Given the description of an element on the screen output the (x, y) to click on. 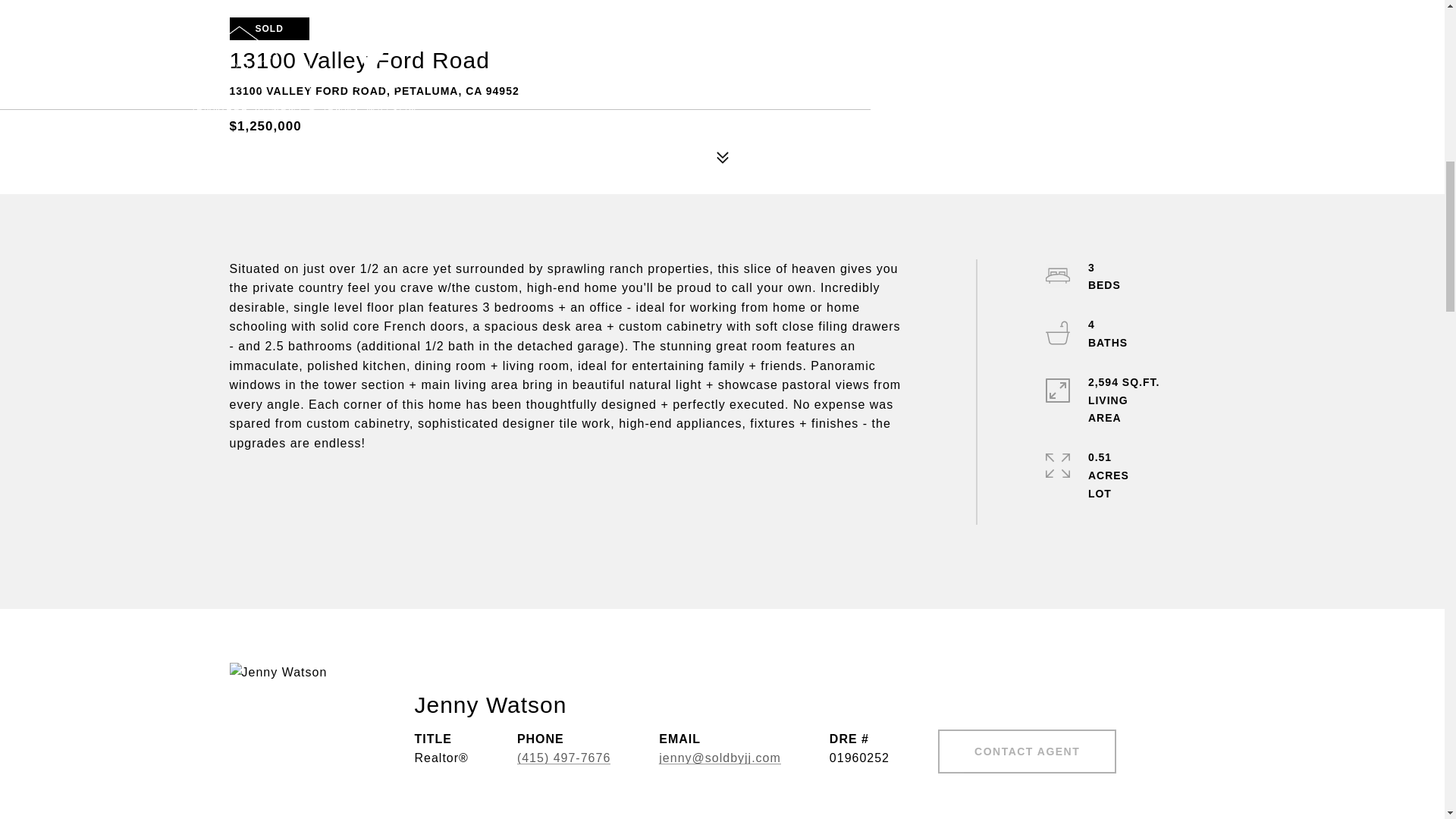
CONTACT AGENT (1026, 751)
